Given the description of an element on the screen output the (x, y) to click on. 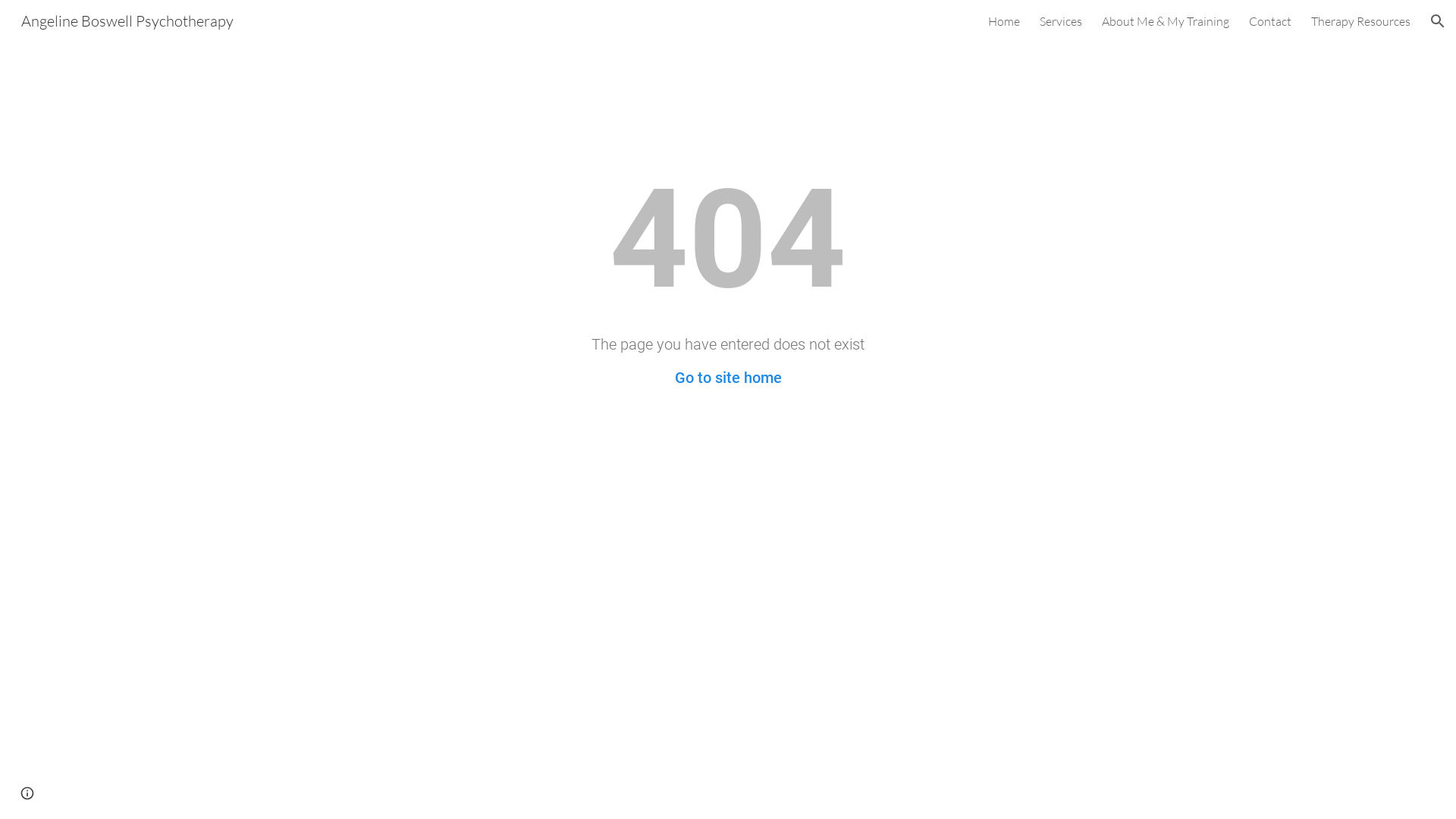
Go to site home Element type: text (727, 377)
Therapy Resources Element type: text (1360, 20)
Contact Element type: text (1269, 20)
Home Element type: text (1003, 20)
Services Element type: text (1060, 20)
Angeline Boswell Psychotherapy Element type: text (127, 18)
About Me & My Training Element type: text (1165, 20)
